Given the description of an element on the screen output the (x, y) to click on. 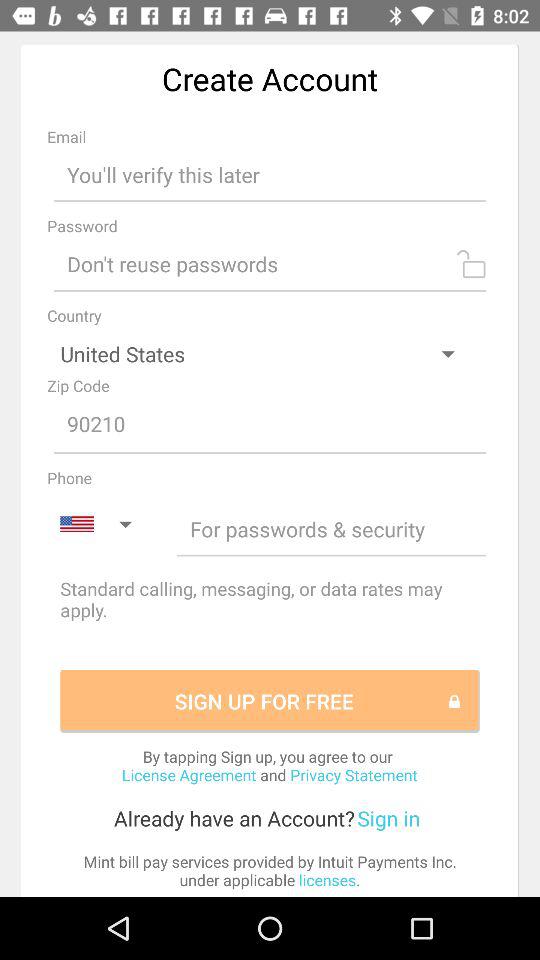
press the icon below sign in icon (269, 870)
